Given the description of an element on the screen output the (x, y) to click on. 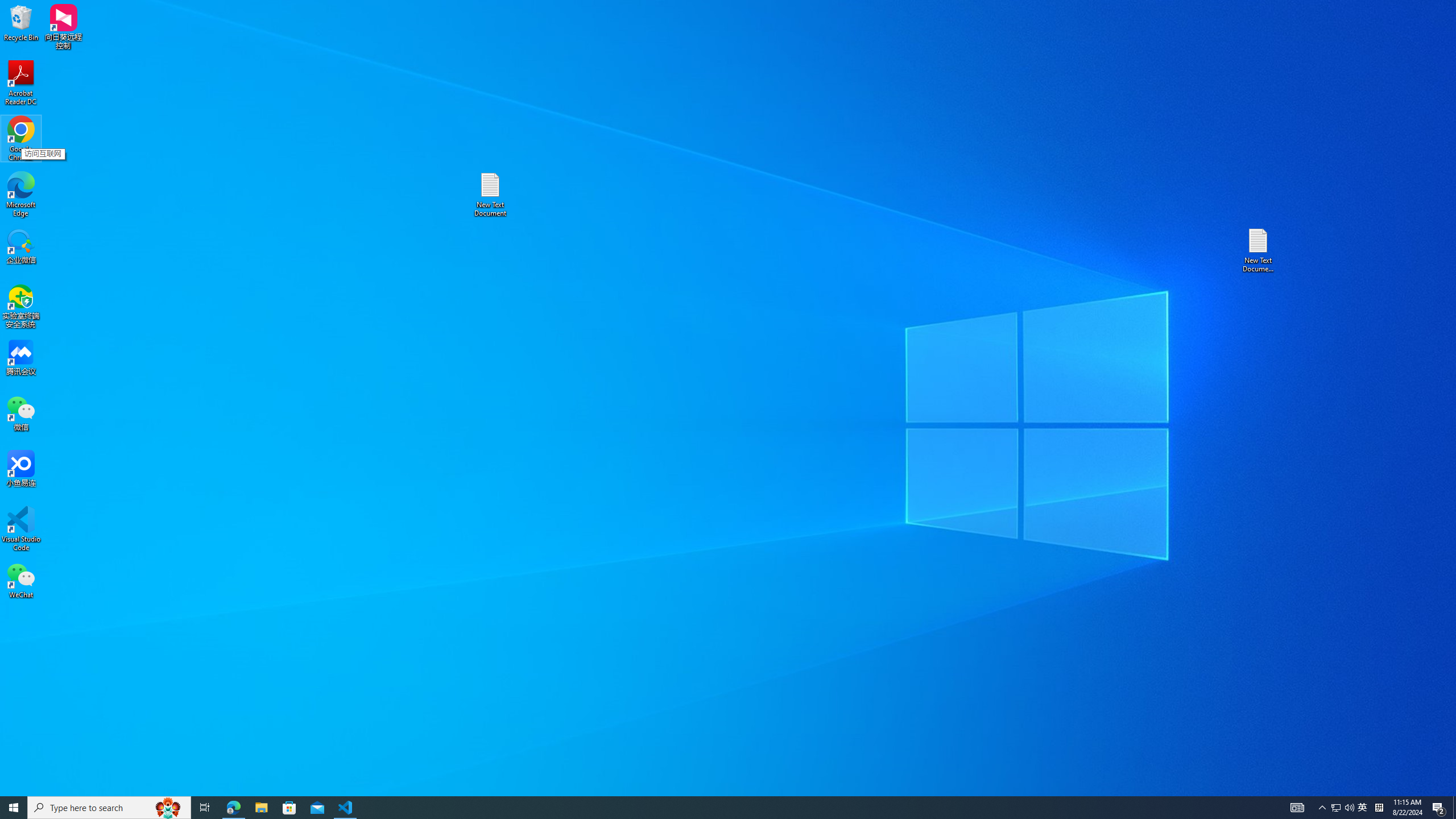
AutomationID: 4105 (1297, 807)
Recycle Bin (21, 22)
